Given the description of an element on the screen output the (x, y) to click on. 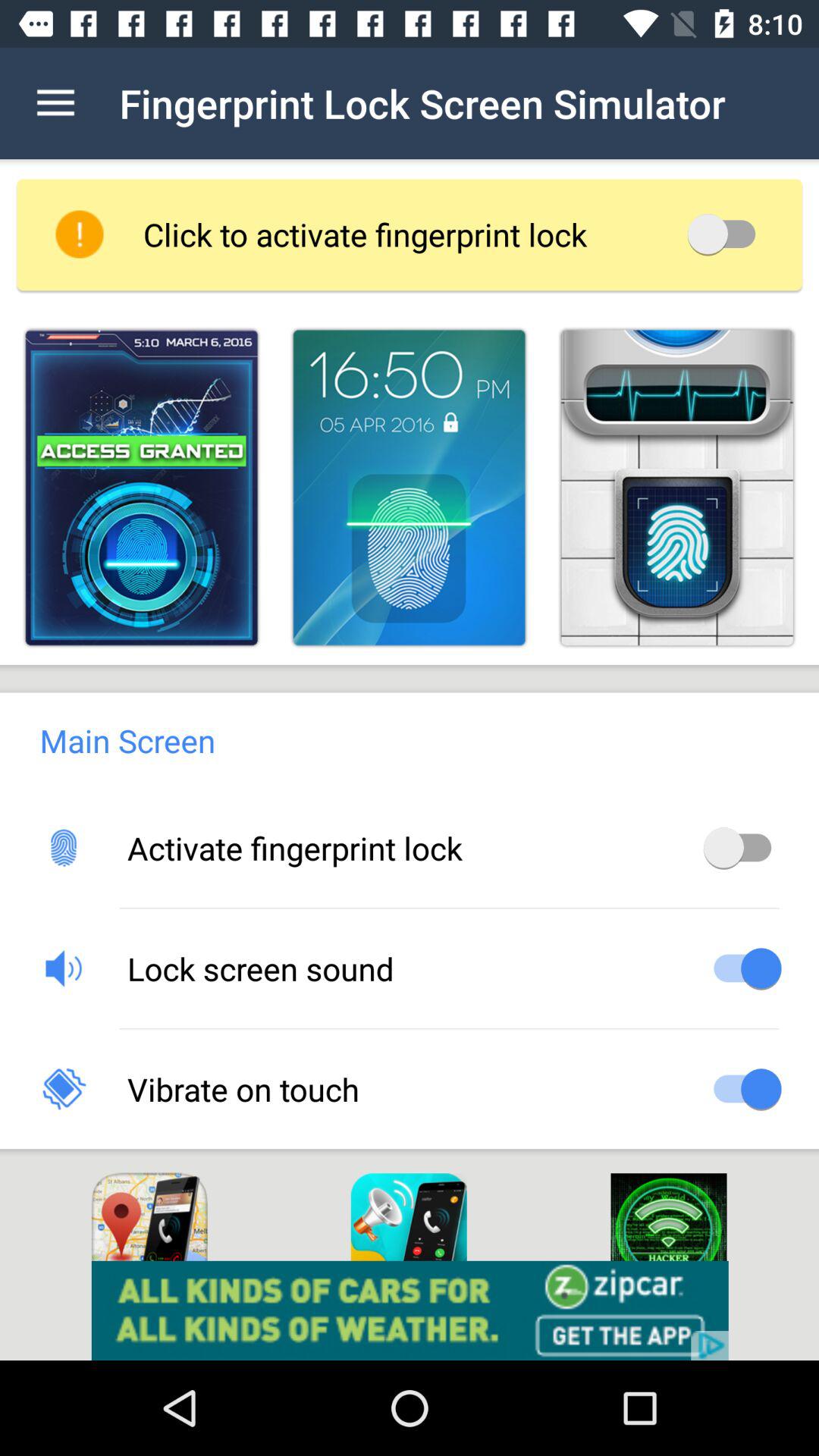
finger print (409, 487)
